Given the description of an element on the screen output the (x, y) to click on. 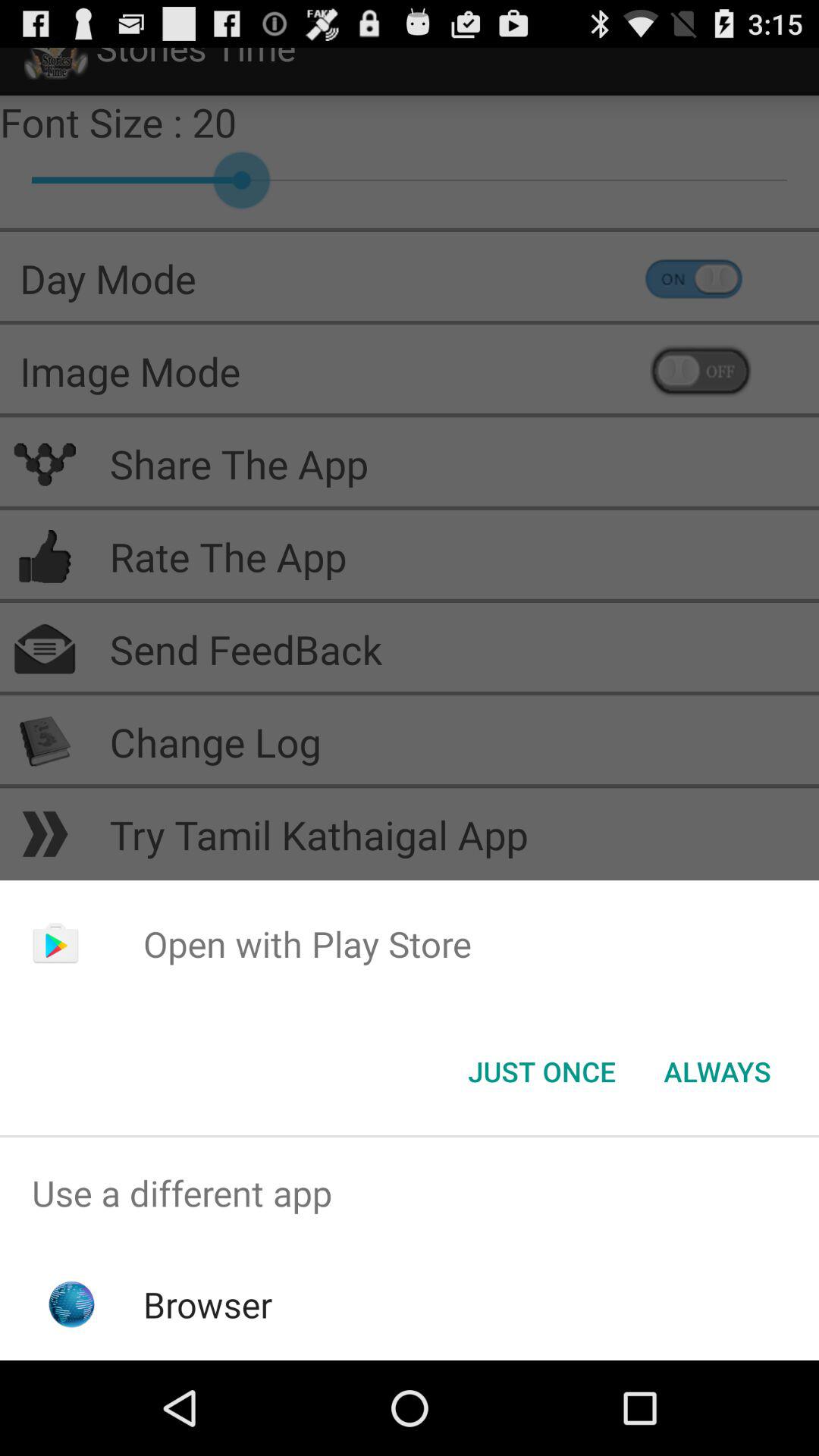
scroll until the just once item (541, 1071)
